Given the description of an element on the screen output the (x, y) to click on. 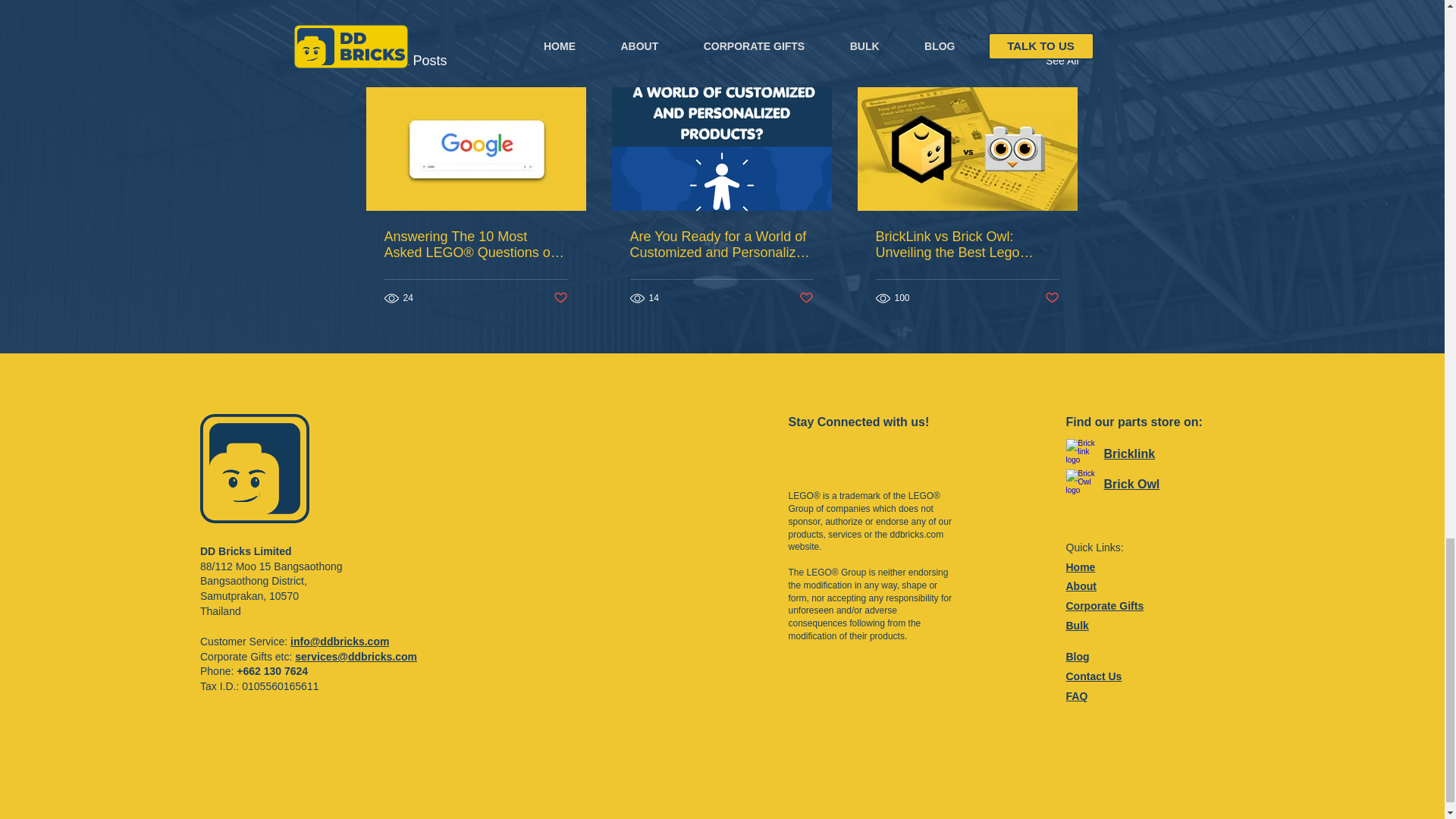
Post not marked as liked (806, 298)
Post not marked as liked (1052, 298)
Post not marked as liked (560, 298)
See All (1061, 60)
